Given the description of an element on the screen output the (x, y) to click on. 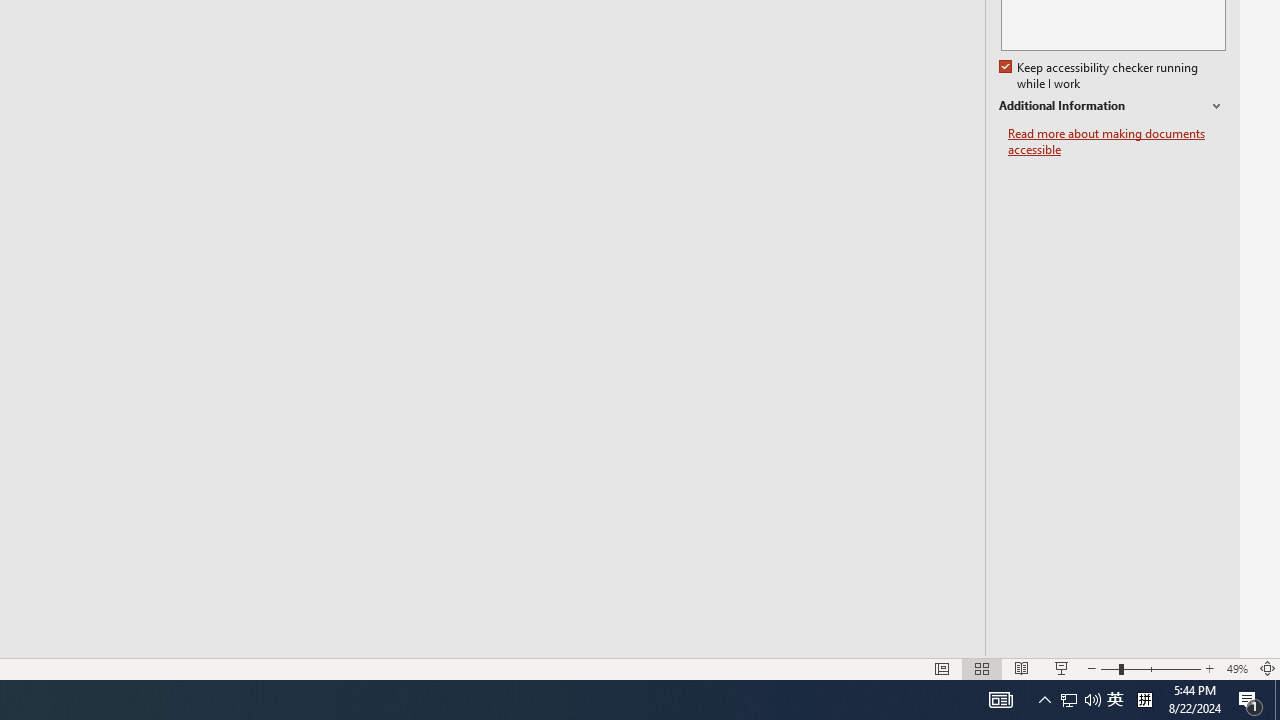
Zoom 49% (1236, 668)
